Given the description of an element on the screen output the (x, y) to click on. 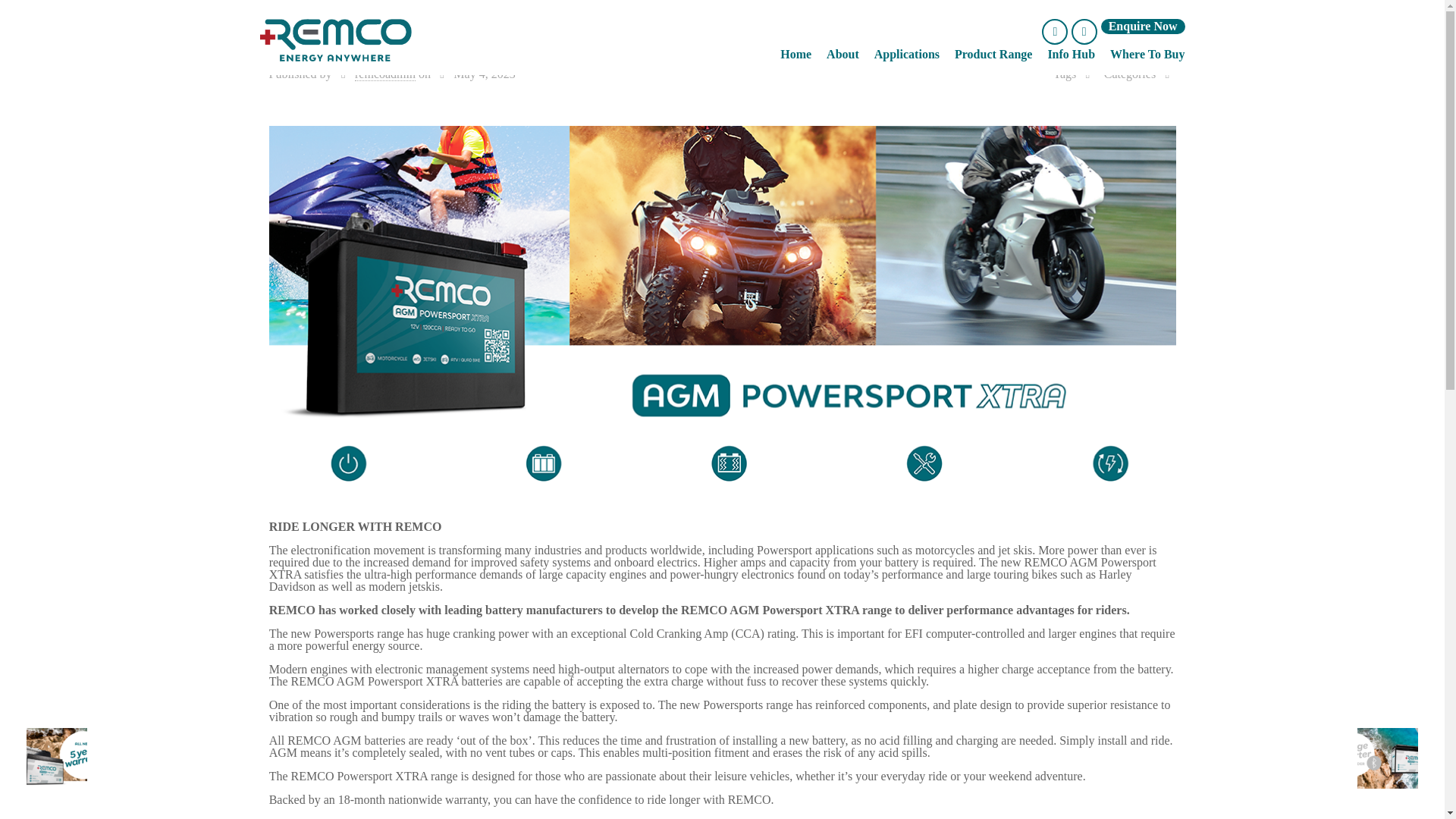
remcoadmin (384, 74)
Home (795, 53)
Applications (907, 53)
Product Range (993, 53)
Info Hub (1070, 53)
Where To Buy (1147, 53)
About (843, 53)
